Given the description of an element on the screen output the (x, y) to click on. 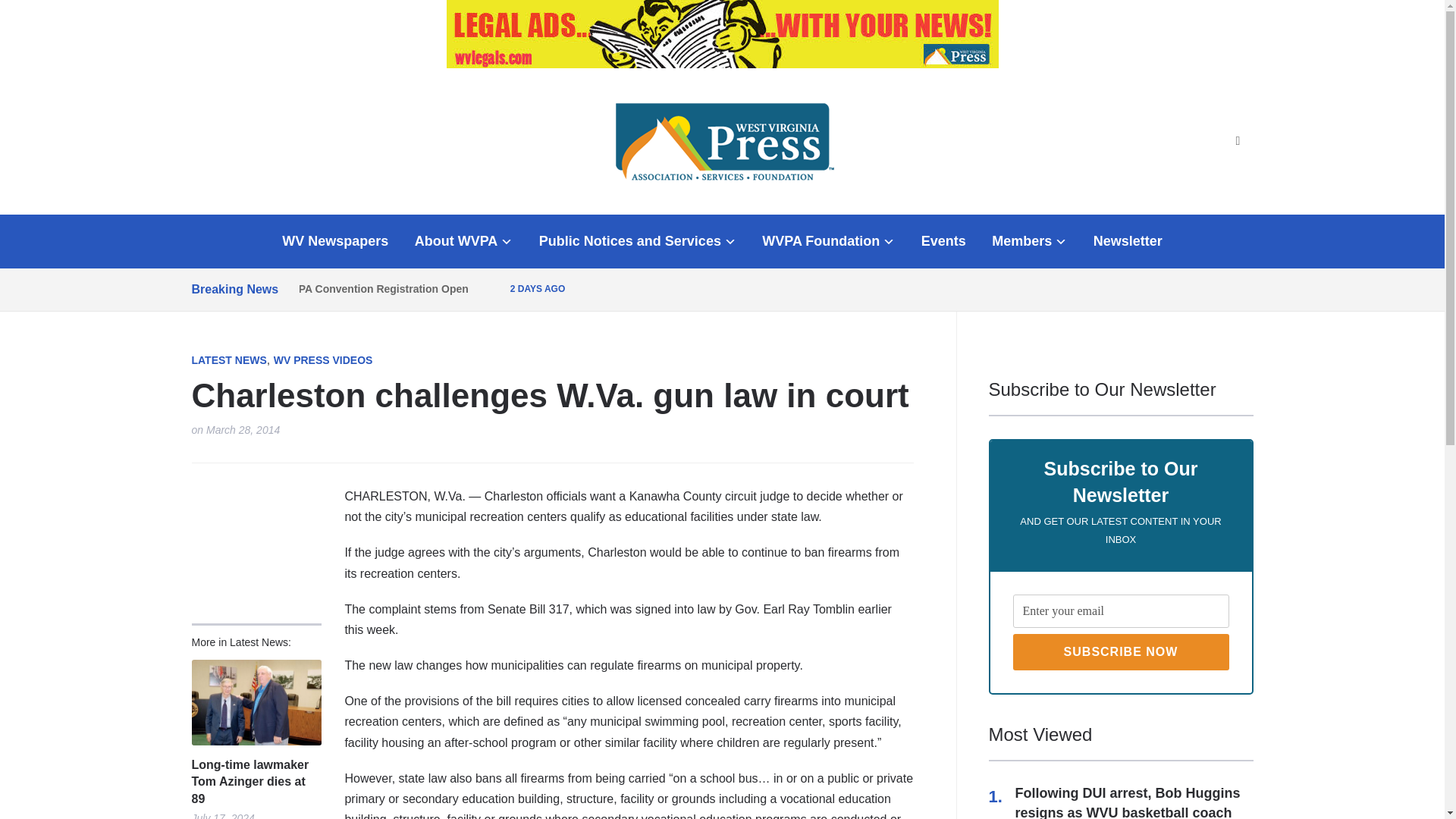
Search (1237, 141)
Subscribe Now (1120, 651)
2024 WVPA Convention Registration Open (361, 288)
Permalink to Long-time lawmaker Tom Azinger dies at 89 (255, 702)
Permalink to Long-time lawmaker Tom Azinger dies at 89 (255, 781)
